Given the description of an element on the screen output the (x, y) to click on. 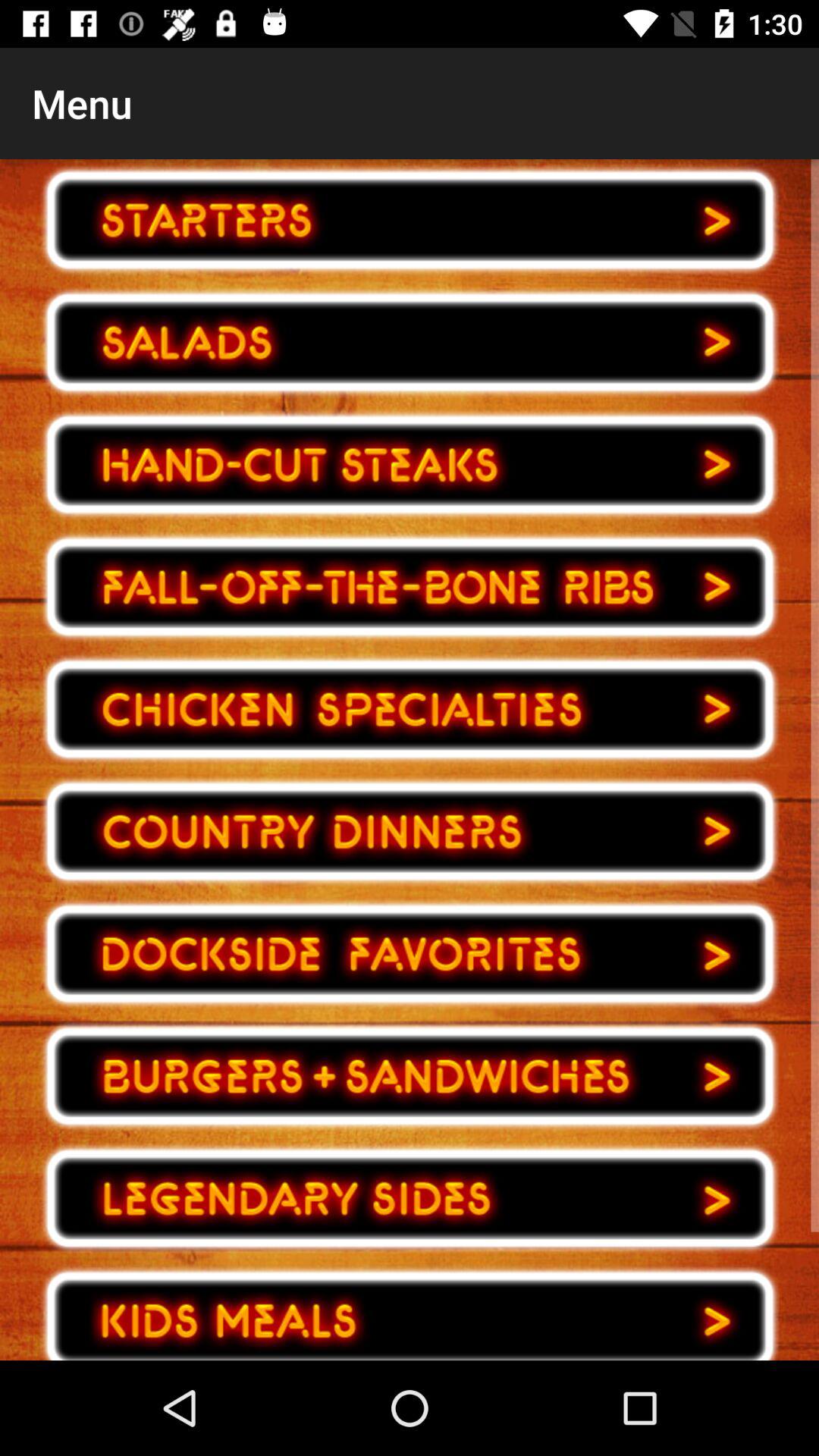
click this to see the country dinners menu options (409, 831)
